Given the description of an element on the screen output the (x, y) to click on. 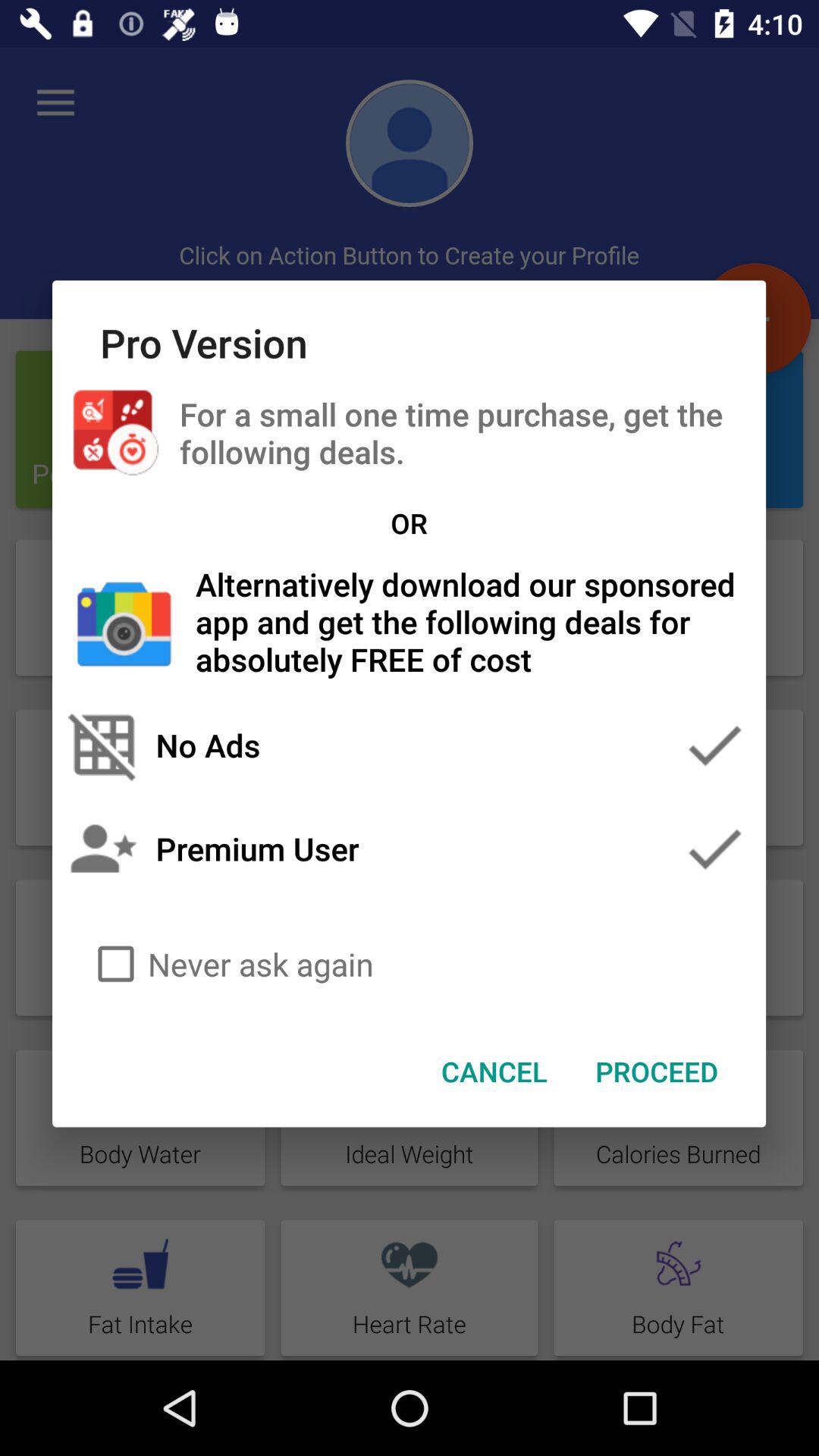
scroll to the never ask again icon (409, 963)
